Given the description of an element on the screen output the (x, y) to click on. 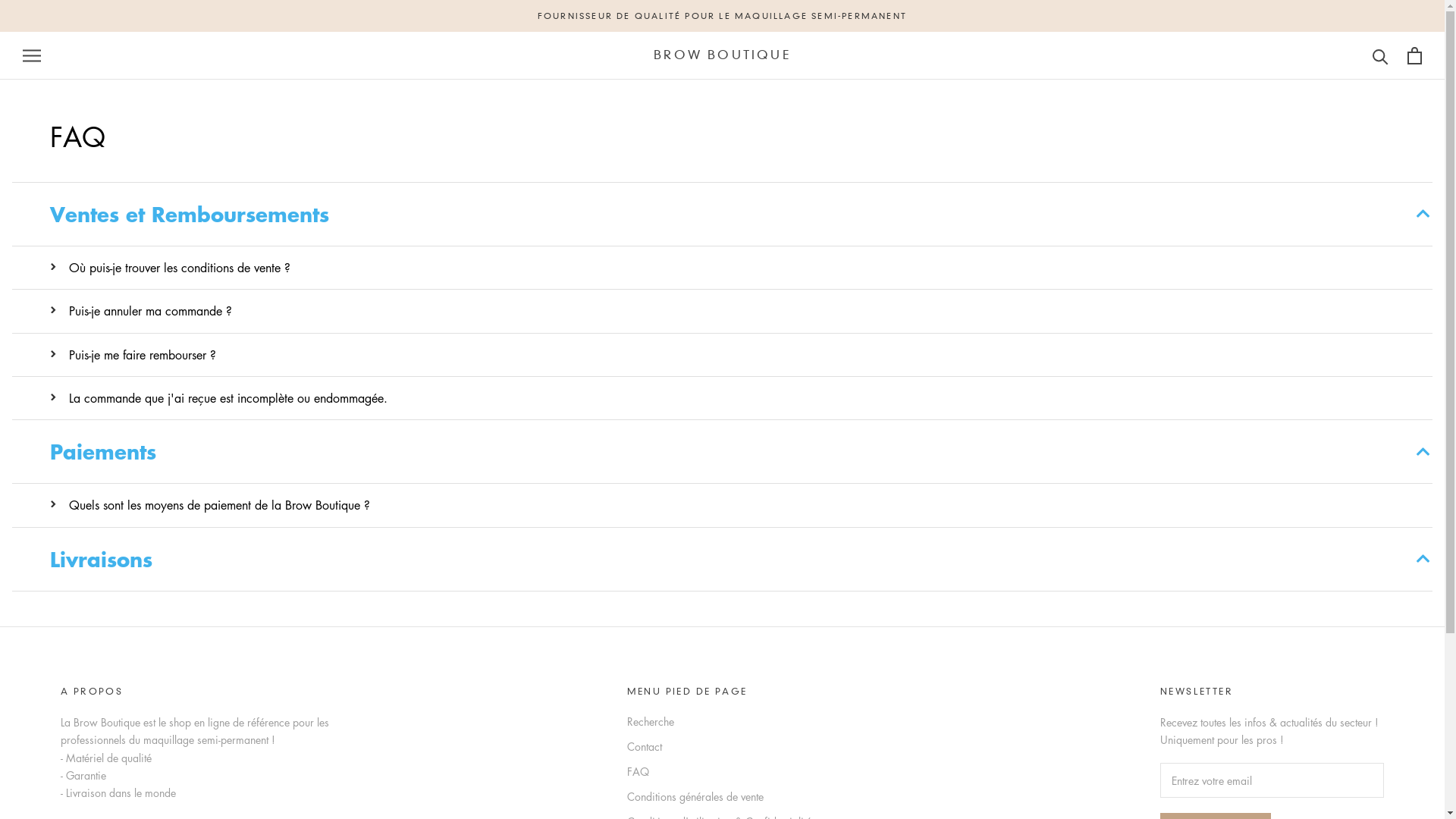
Puis-je annuler ma commande ? Element type: text (741, 310)
Quels sont les moyens de paiement de la Brow Boutique ? Element type: text (741, 504)
Paiements Element type: text (722, 451)
Recherche Element type: text (753, 721)
Puis-je me faire rembourser ? Element type: text (741, 354)
Ventes et Remboursements Element type: text (722, 214)
Contact Element type: text (753, 746)
Livraisons Element type: text (722, 559)
BROW BOUTIQUE Element type: text (721, 55)
FAQ Element type: text (753, 771)
